Given the description of an element on the screen output the (x, y) to click on. 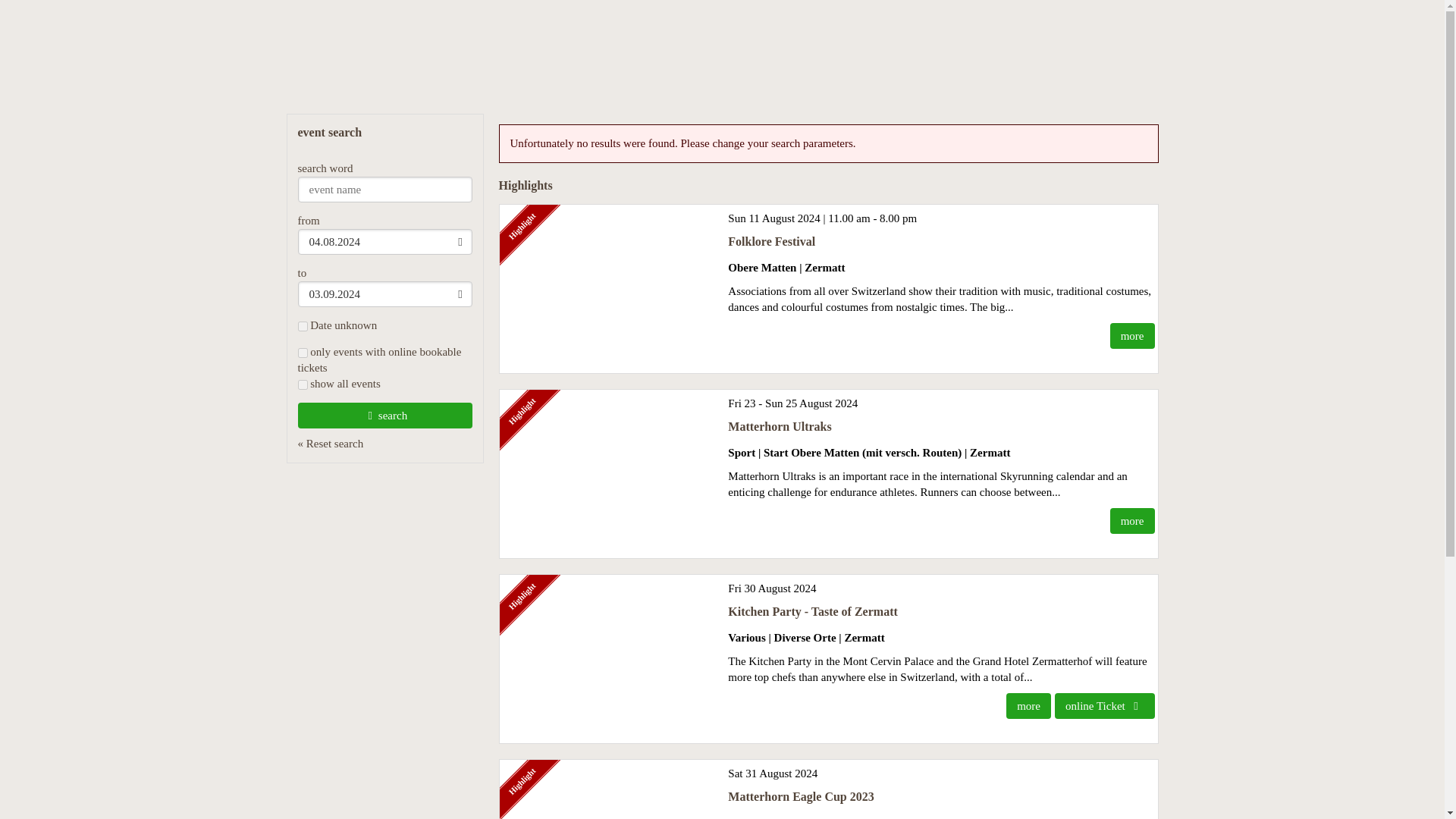
1 (302, 326)
online Ticket (1104, 705)
Matterhorn Eagle Cup 2023 (800, 796)
Kitchen Party - Taste of Zermatt (813, 611)
Matterhorn Ultraks (779, 426)
Folklore Festival (771, 241)
more (1028, 705)
1 (302, 352)
1 (302, 352)
1 (302, 384)
1 (302, 384)
03.09.2024 (384, 294)
more (1131, 520)
1 (302, 326)
search (384, 415)
